Given the description of an element on the screen output the (x, y) to click on. 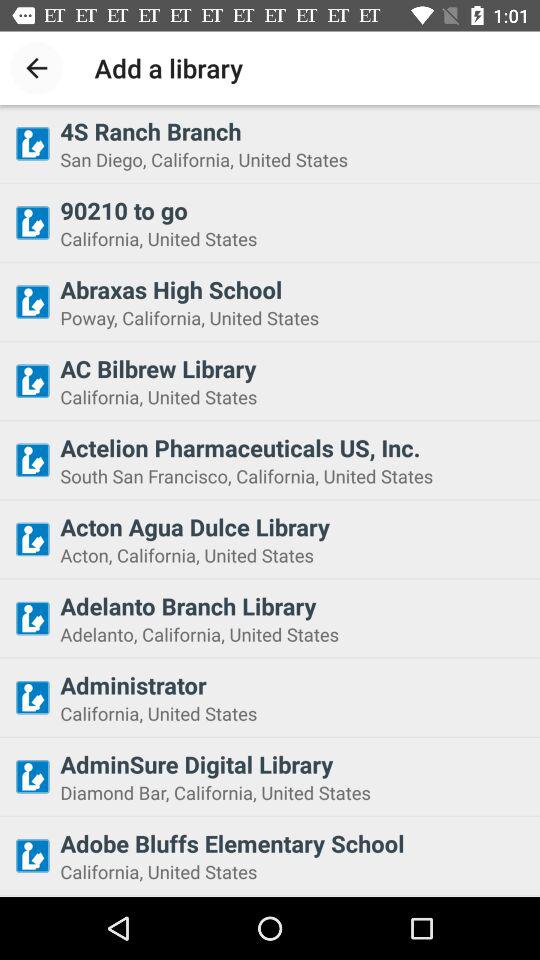
scroll until poway california united (294, 317)
